Given the description of an element on the screen output the (x, y) to click on. 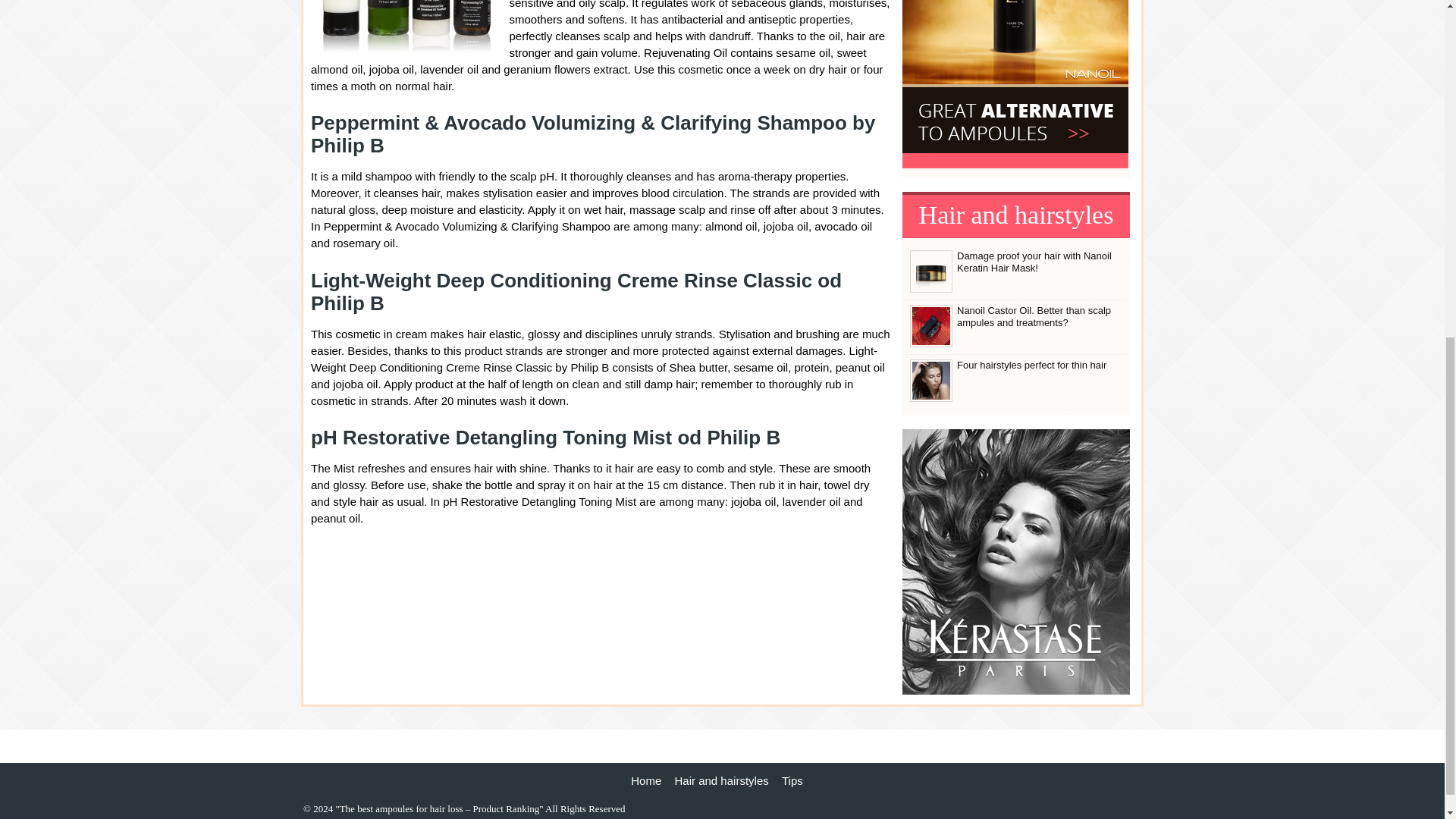
Four hairstyles perfect for thin hair (1031, 365)
Damage proof your hair with Nanoil Keratin Hair Mask! (931, 289)
Four hairstyles perfect for thin hair (1031, 365)
Tips (792, 780)
Nanoil Castor Oil. Better than scalp ampules and treatments? (1033, 316)
Home (645, 780)
Nanoil Castor Oil. Better than scalp ampules and treatments? (931, 344)
Nanoil Castor Oil. Better than scalp ampules and treatments? (1033, 316)
Damage proof your hair with Nanoil Keratin Hair Mask! (1034, 261)
Damage proof your hair with Nanoil Keratin Hair Mask! (1034, 261)
